Given the description of an element on the screen output the (x, y) to click on. 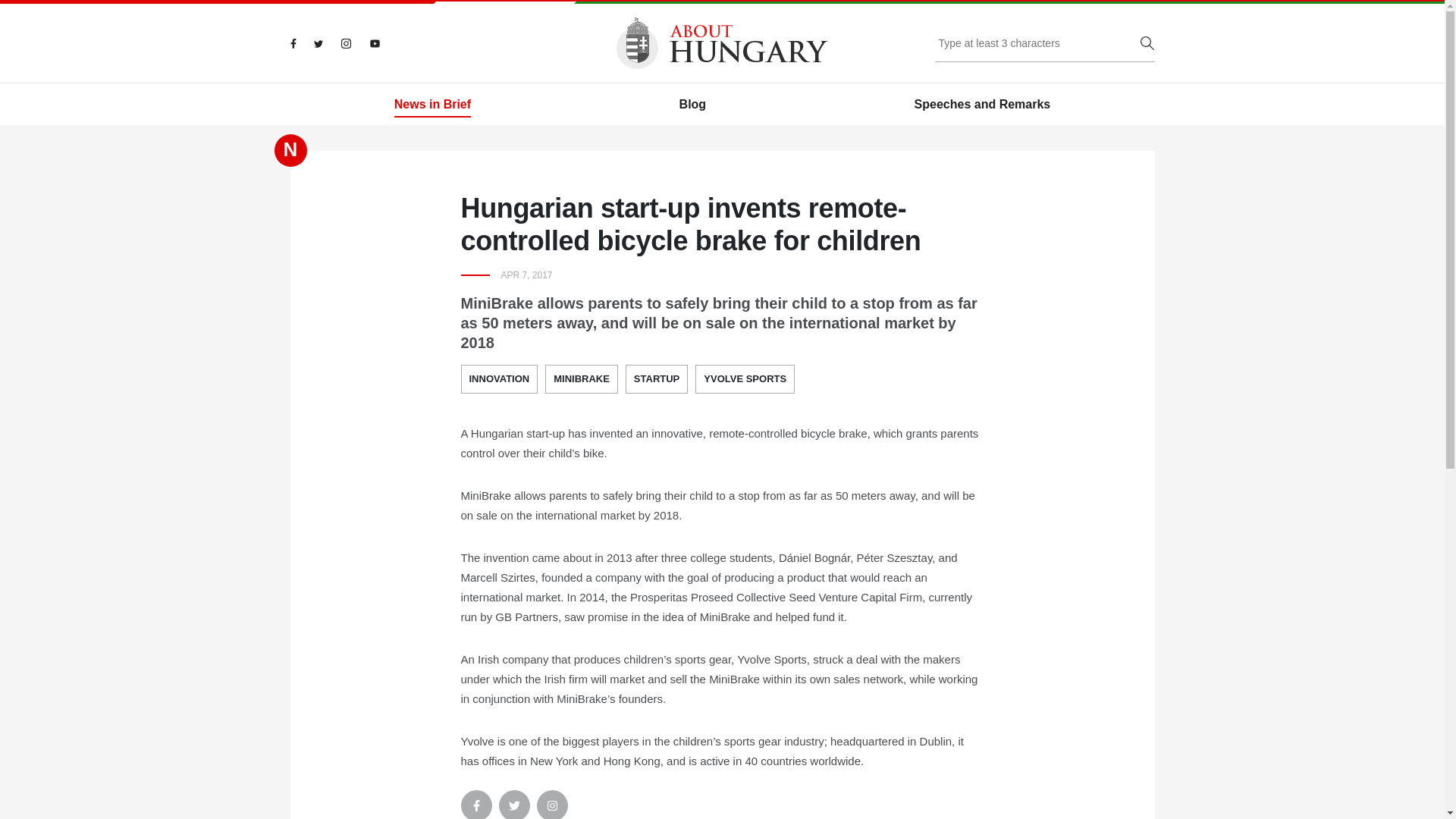
Speeches and Remarks (982, 104)
Twitter- icon (514, 804)
YVOLVE SPORTS (744, 378)
Yvolve Sports (744, 378)
STARTUP (656, 378)
Instagram icon (552, 804)
startup (656, 378)
Speeches and Remarks (982, 104)
News in Brief (432, 104)
INNOVATION (499, 378)
